Given the description of an element on the screen output the (x, y) to click on. 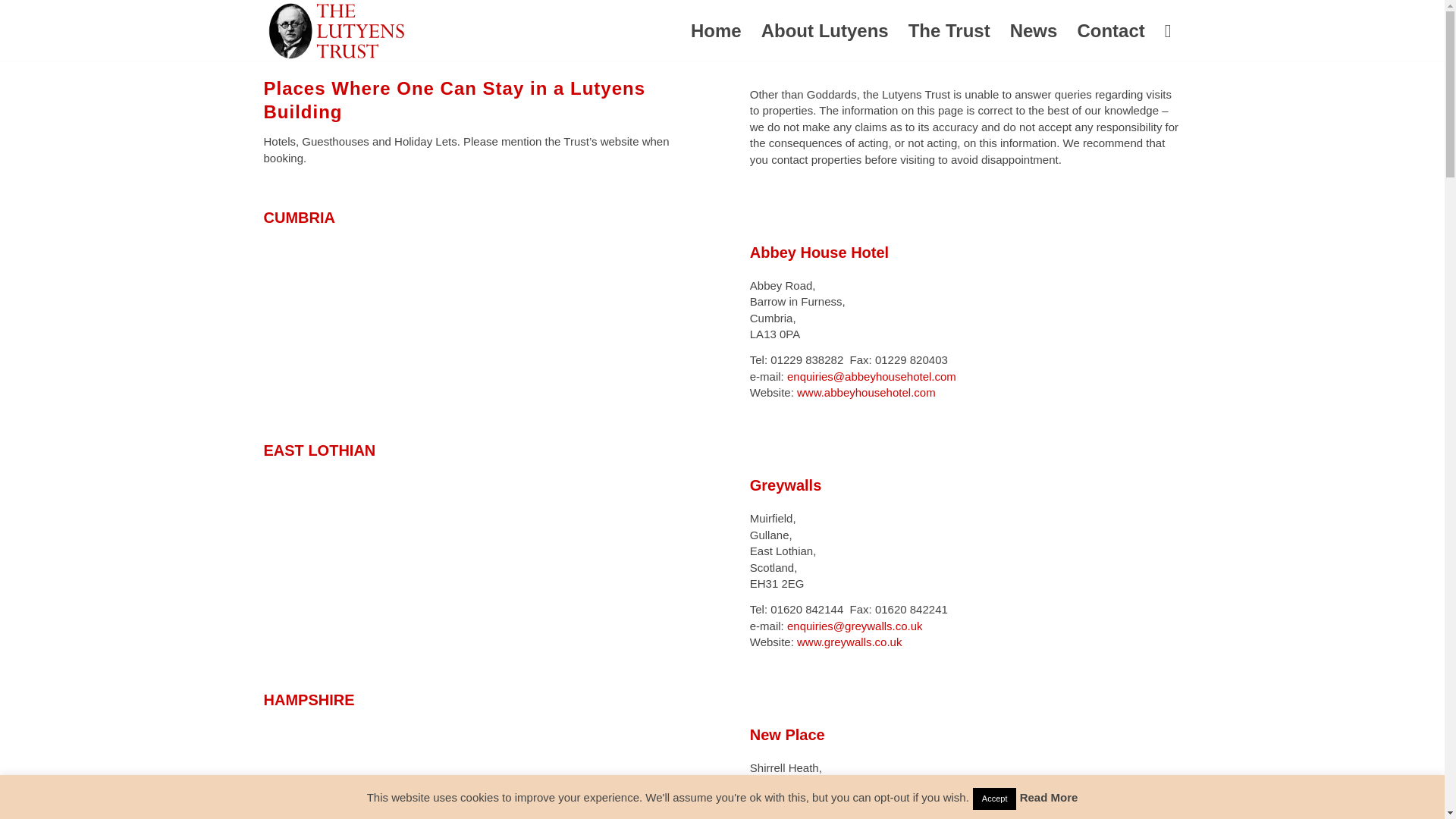
Home (716, 30)
Lutyens-Trust-Logo (336, 30)
www.greywalls.co.uk (848, 641)
About Lutyens (824, 30)
News (1033, 30)
www.abbeyhousehotel.com (866, 391)
Contact (1110, 30)
The Trust (949, 30)
